Given the description of an element on the screen output the (x, y) to click on. 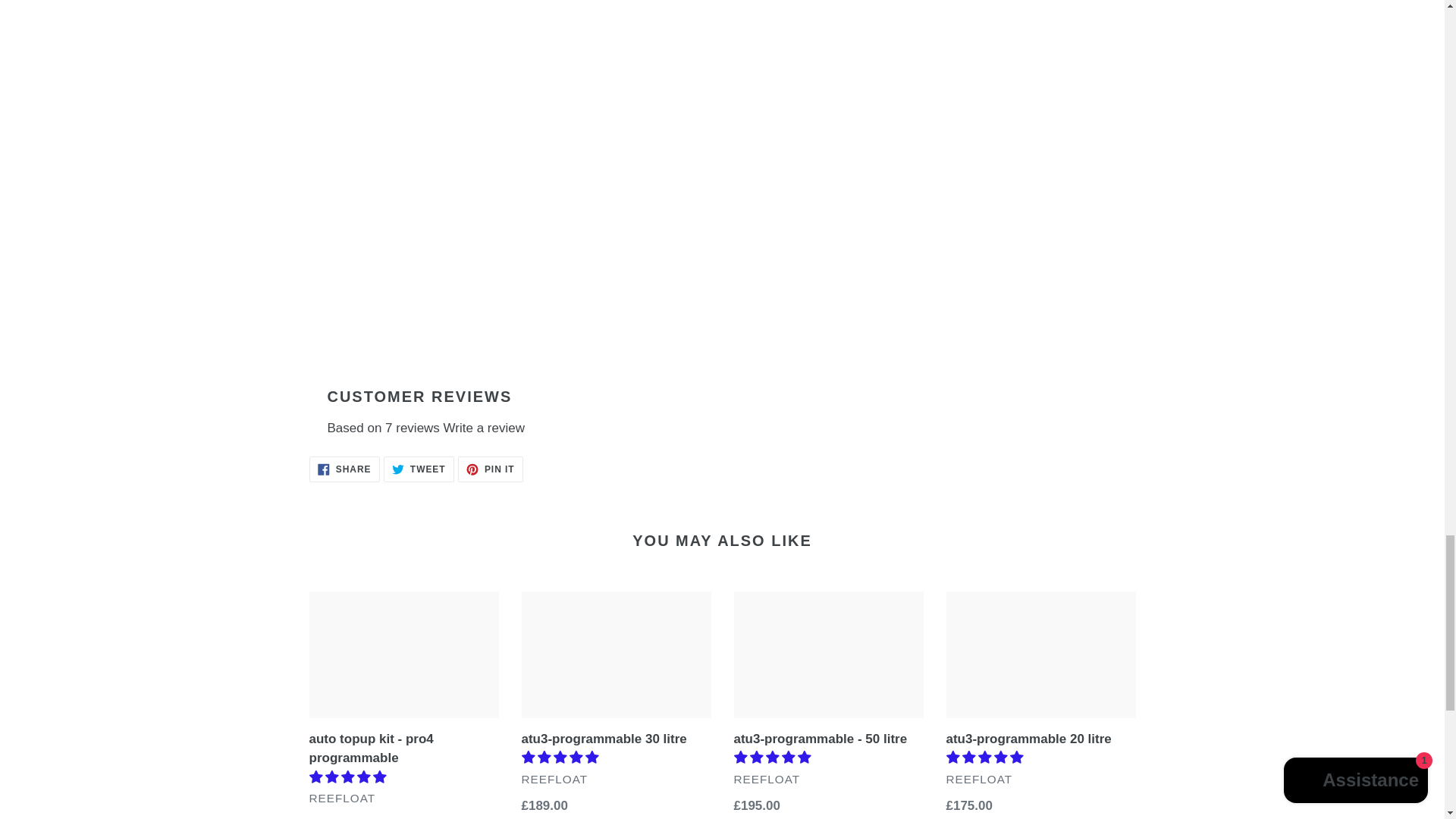
Write a review (484, 427)
